Given the description of an element on the screen output the (x, y) to click on. 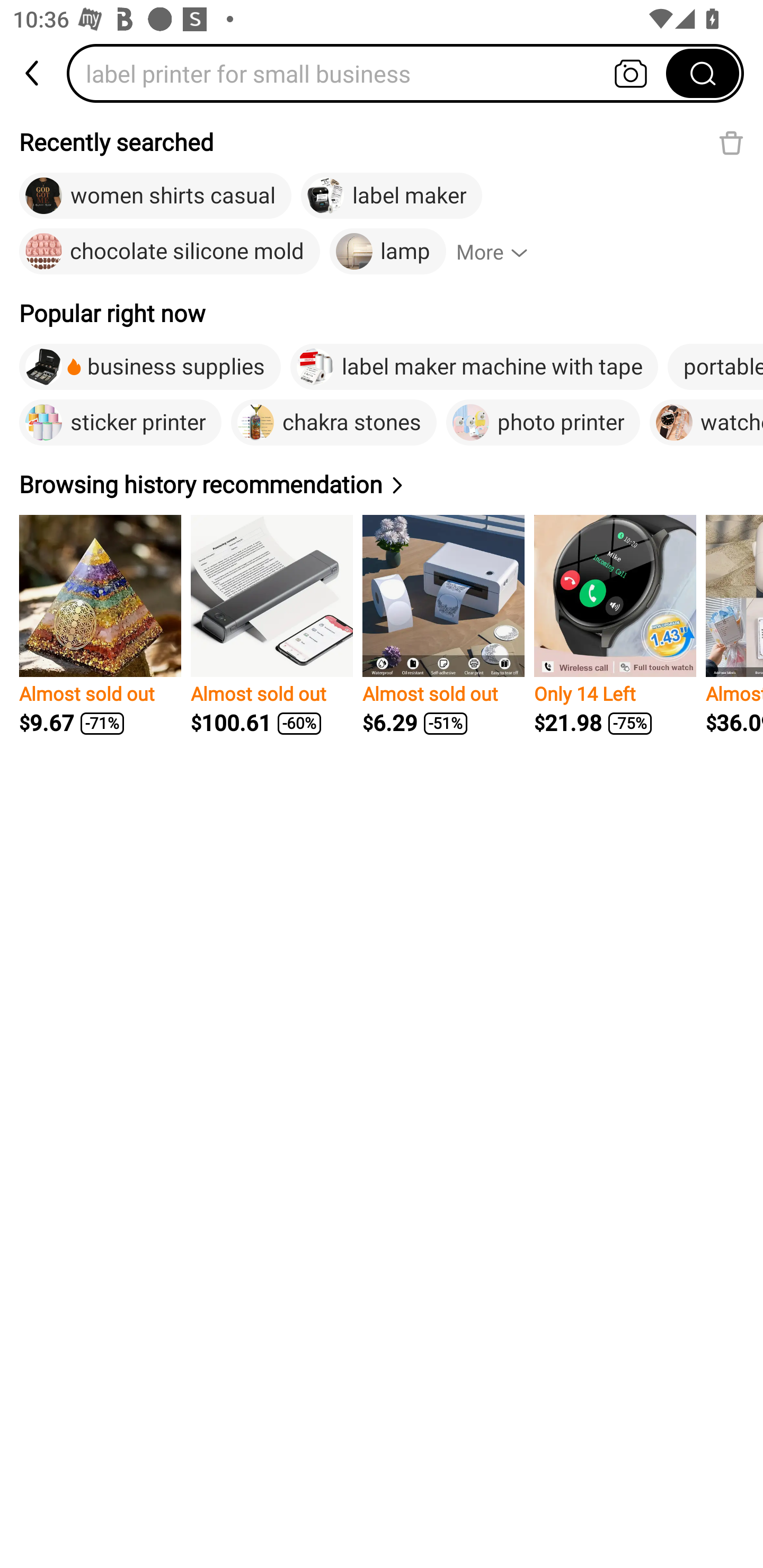
back (33, 72)
label printer for small business (372, 73)
Search by photo (630, 73)
Delete recent search (731, 142)
women shirts casual (155, 195)
label maker (391, 195)
chocolate silicone mold (169, 251)
lamp (387, 251)
More (499, 251)
business supplies (149, 366)
label maker machine with tape (473, 366)
sticker printer (120, 422)
chakra stones (333, 422)
photo printer (543, 422)
watches for women (706, 422)
Browsing history recommendation (213, 484)
Almost sold out $9.67 -71% (100, 625)
Almost sold out $100.61 -60% (271, 625)
Almost sold out $6.29 -51% (443, 625)
Only 14 Left $21.98 -75% (614, 625)
